Given the description of an element on the screen output the (x, y) to click on. 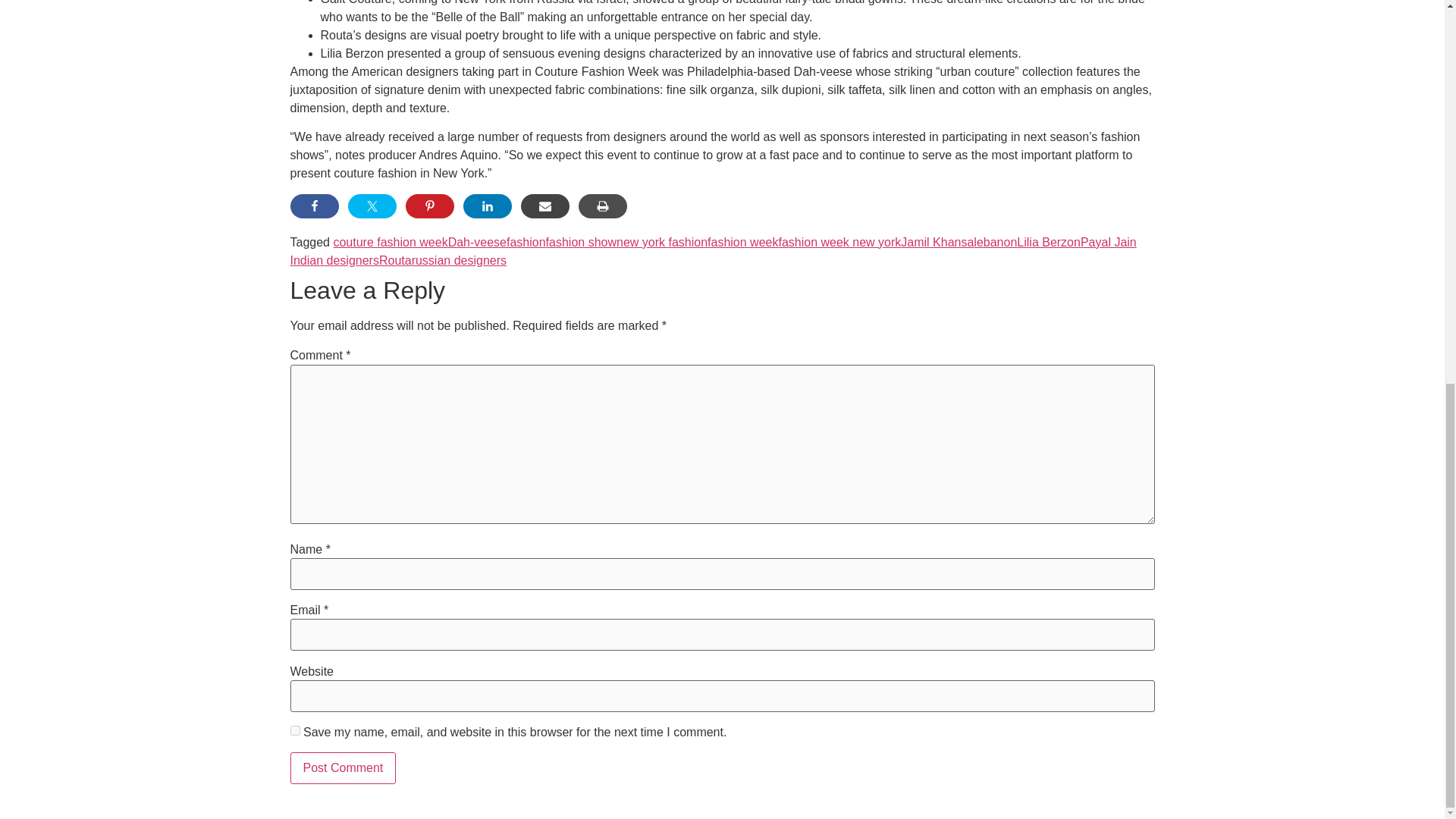
fashion (526, 241)
Share on Twitter (371, 206)
fashion week new york (839, 241)
lebanon (995, 241)
Share on LinkedIn (487, 206)
fashion shownew york fashion (626, 241)
yes (294, 730)
Share via Email (544, 206)
Print this Page (602, 206)
couture fashion week (389, 241)
Jamil Khansa (937, 241)
Dah-veese (477, 241)
Post Comment (342, 767)
fashion week (742, 241)
Payal Jain Indian designers (712, 250)
